Given the description of an element on the screen output the (x, y) to click on. 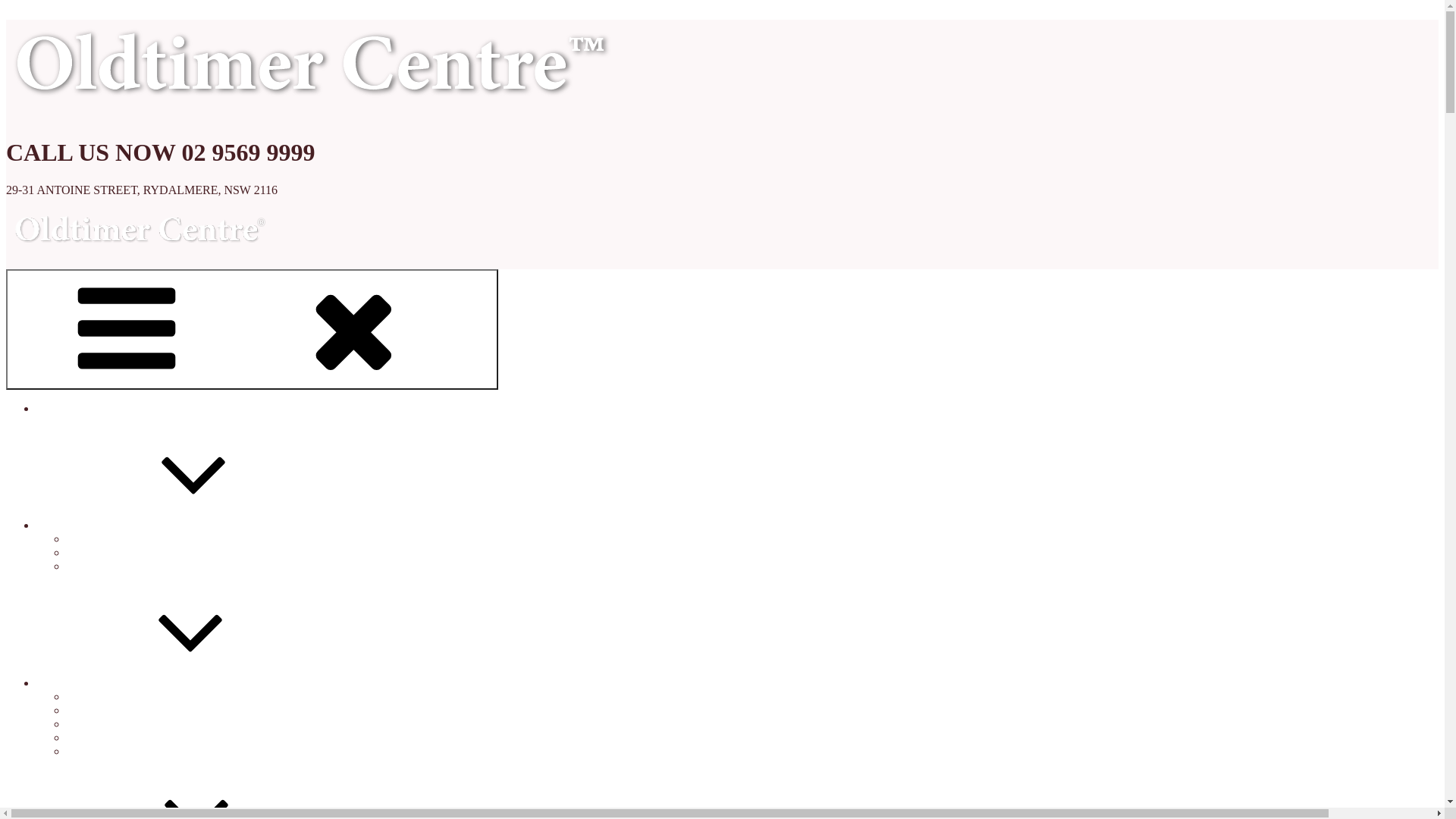
Skip to content Element type: text (42, 12)
Services Element type: text (170, 682)
Sell Your Car Element type: text (99, 750)
Cars For Sale Element type: text (99, 538)
Menu Element type: text (252, 329)
Our Cars Element type: text (171, 524)
Home Element type: text (50, 407)
Warranties Element type: text (92, 696)
Videos Element type: text (83, 565)
Vehicle Checks Element type: text (103, 709)
Finance Element type: text (85, 737)
Virtual Buying Experience Element type: text (131, 552)
Buying Tips Element type: text (96, 723)
